Given the description of an element on the screen output the (x, y) to click on. 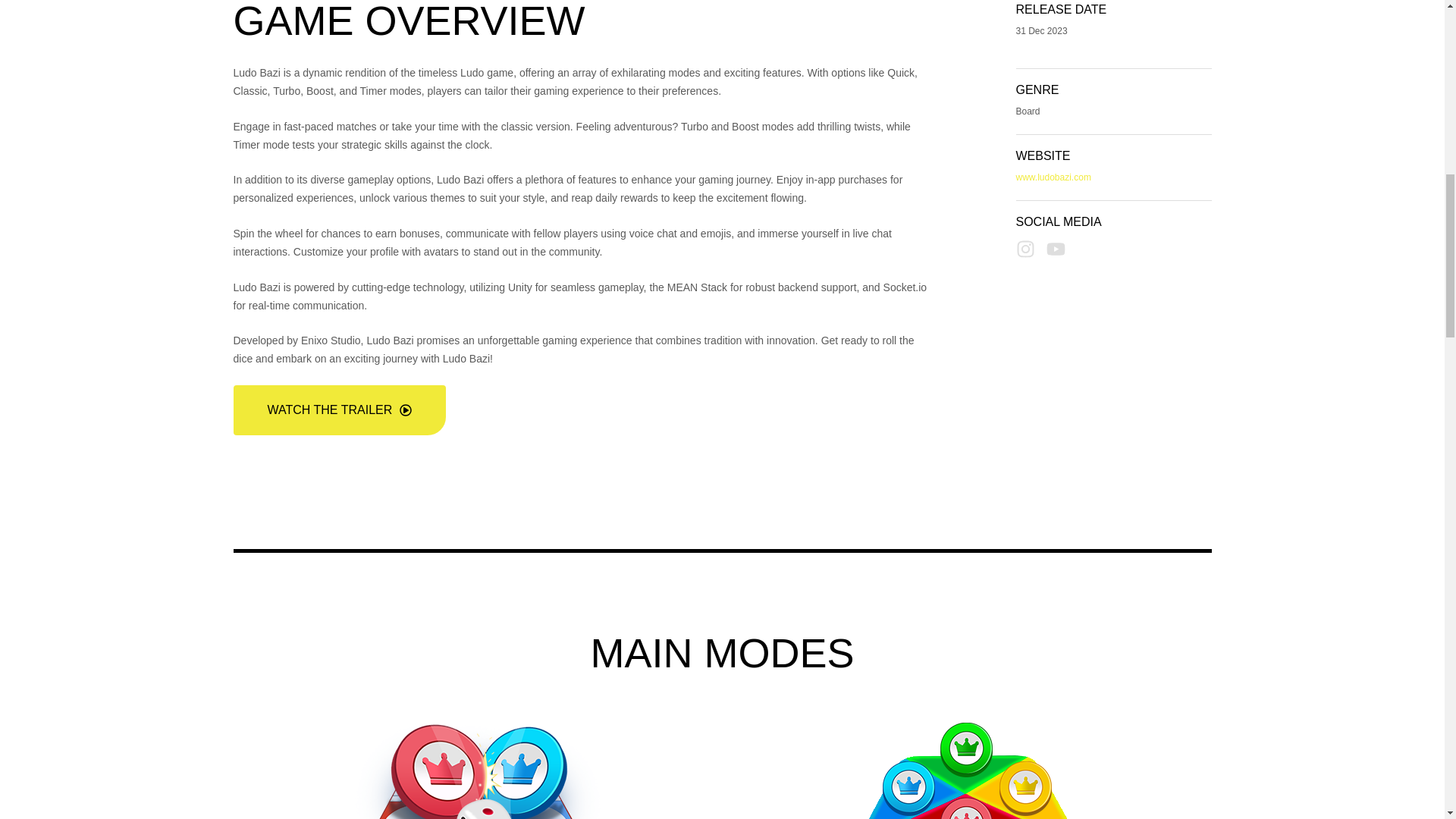
WATCH THE TRAILER (339, 409)
